Given the description of an element on the screen output the (x, y) to click on. 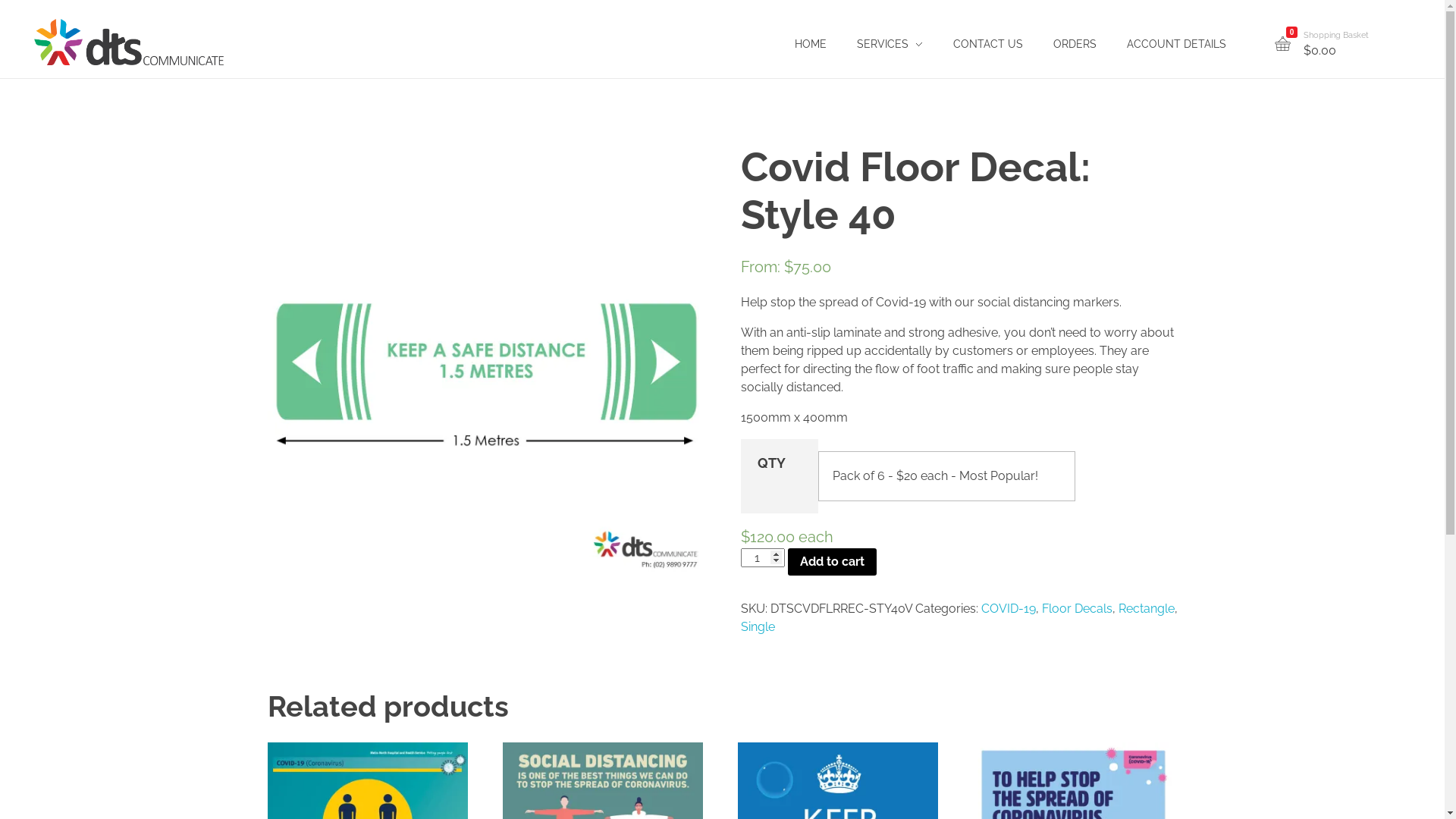
ACCOUNT DETAILS Element type: text (1176, 44)
COVID-19 Element type: text (1008, 608)
DTS COMMUNICATE Element type: hover (128, 41)
Rectangle Element type: text (1145, 608)
Single Element type: text (757, 626)
DTS COMMUNICATE Element type: text (122, 73)
SERVICES Element type: text (889, 44)
Floor Decals Element type: text (1076, 608)
CONTACT US Element type: text (987, 44)
ORDERS Element type: text (1074, 44)
HOME Element type: text (810, 44)
Add to cart Element type: text (831, 561)
0 Element type: text (1282, 44)
